Given the description of an element on the screen output the (x, y) to click on. 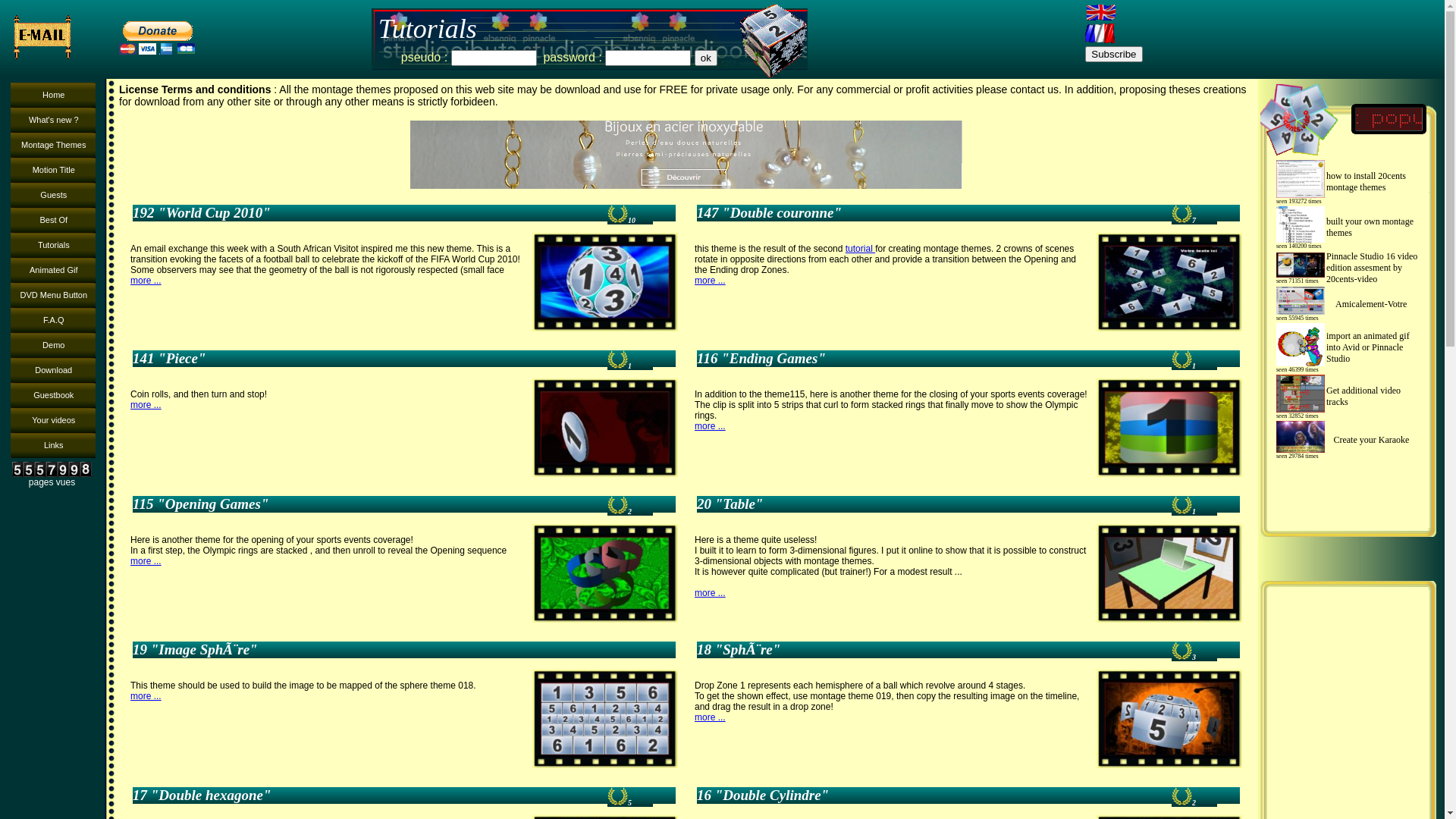
17 "Double hexagone" Element type: text (369, 795)
score Element type: hover (1181, 213)
more ... Element type: text (145, 404)
more ... Element type: text (709, 592)
seen 55945 times Amicalement-Votre Element type: text (1348, 303)
montage theme Element type: hover (772, 39)
What's new ? Element type: text (52, 119)
score Element type: hover (1181, 504)
score Element type: hover (1181, 796)
Links Element type: text (52, 445)
Best Of Element type: text (52, 219)
score Element type: hover (617, 504)
more ... Element type: text (145, 280)
Home Element type: text (52, 94)
Motion Title Element type: text (52, 169)
116 "Ending Games" Element type: text (933, 358)
score Element type: hover (617, 796)
more ... Element type: text (709, 280)
theme  - 20 Table Element type: hover (1169, 573)
seen 32852 times Get additional video tracks Element type: text (1348, 396)
more ... Element type: text (709, 717)
theme  - 192 World Cup 2010 Element type: hover (604, 281)
score Element type: hover (617, 213)
Tutorials Element type: text (52, 244)
20 "Table" Element type: text (933, 503)
Guestbook Element type: text (52, 394)
Subscribe Element type: text (1113, 54)
theme  - 141 Piece Element type: hover (604, 427)
score Element type: hover (1181, 359)
theme  - 147 Double couronne Element type: hover (1169, 281)
141 "Piece" Element type: text (369, 358)
DVD Menu Button Element type: text (52, 294)
more ... Element type: text (145, 695)
F.A.Q Element type: text (52, 319)
ok Element type: text (705, 57)
Donate Element type: hover (155, 37)
16 "Double Cylindre" Element type: text (933, 795)
score Element type: hover (617, 359)
score Element type: hover (1181, 650)
Download Element type: text (52, 369)
tutorial Element type: text (860, 248)
Your videos Element type: text (52, 420)
115 "Opening Games" Element type: text (369, 503)
seen 193272 times how to install 20cents montage themes Element type: text (1348, 182)
theme  - 116 Ending Games Element type: hover (1169, 427)
more ... Element type: text (709, 425)
seen 29784 times Create your Karaoke Element type: text (1348, 439)
192 "World Cup 2010" Element type: text (369, 212)
more ... Element type: text (145, 560)
email to 20cents-video Element type: hover (47, 36)
Demo Element type: text (52, 344)
Francais Element type: hover (1100, 33)
147 "Double couronne" Element type: text (933, 212)
Animated Gif Element type: text (52, 269)
Guests Element type: text (52, 194)
Montage Themes Element type: text (52, 144)
theme  - 115 Opening Games Element type: hover (604, 573)
seen 140200 times built your own montage themes Element type: text (1348, 228)
English Element type: hover (1100, 12)
